Given the description of an element on the screen output the (x, y) to click on. 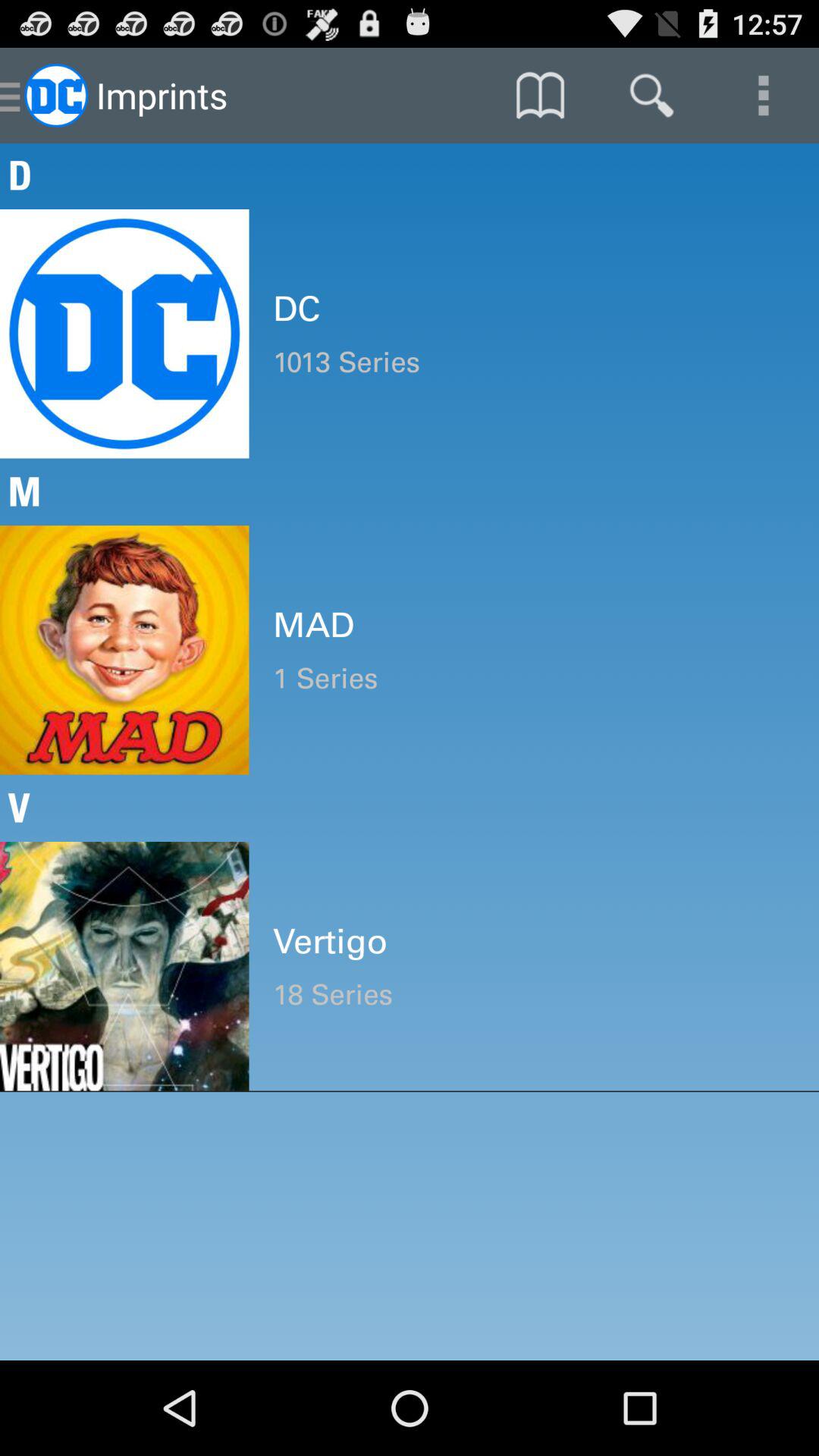
launch the item above the d icon (651, 95)
